Given the description of an element on the screen output the (x, y) to click on. 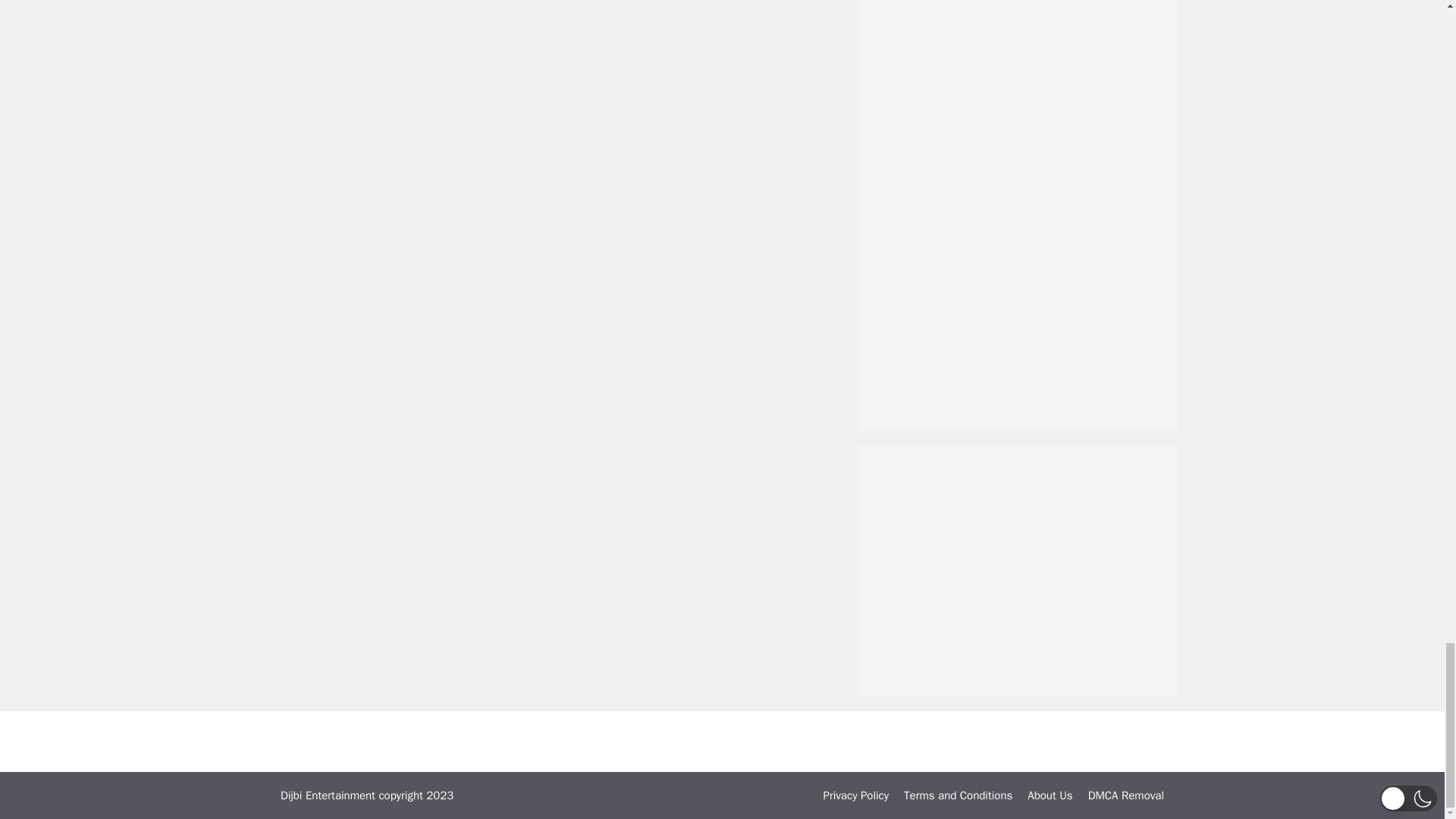
Terms and Conditions (957, 795)
DMCA Removal (1125, 795)
About Us (1049, 795)
Privacy Policy (856, 795)
